Given the description of an element on the screen output the (x, y) to click on. 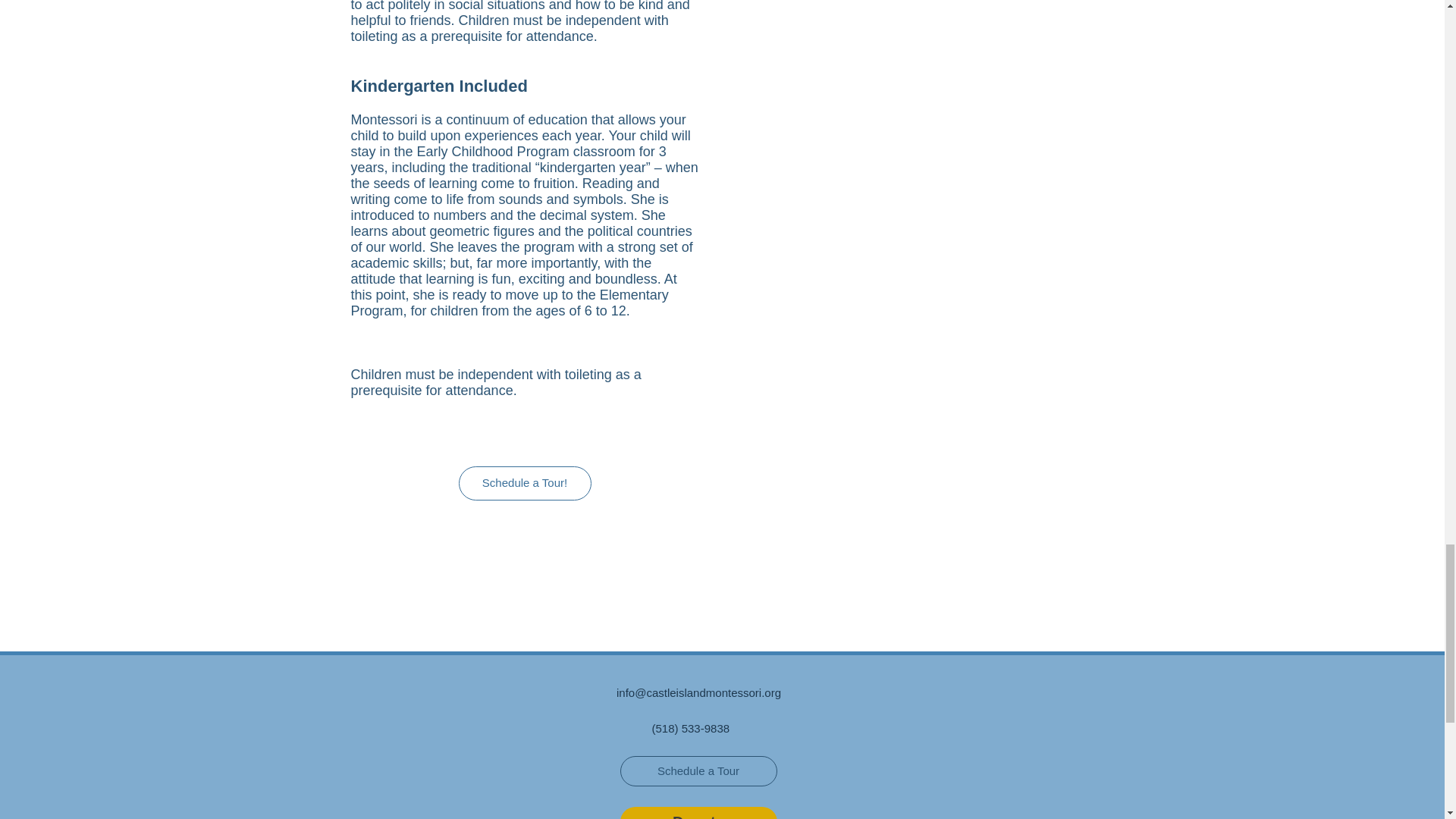
Schedule a Tour (698, 770)
Donate (698, 812)
Schedule a Tour! (524, 483)
